Given the description of an element on the screen output the (x, y) to click on. 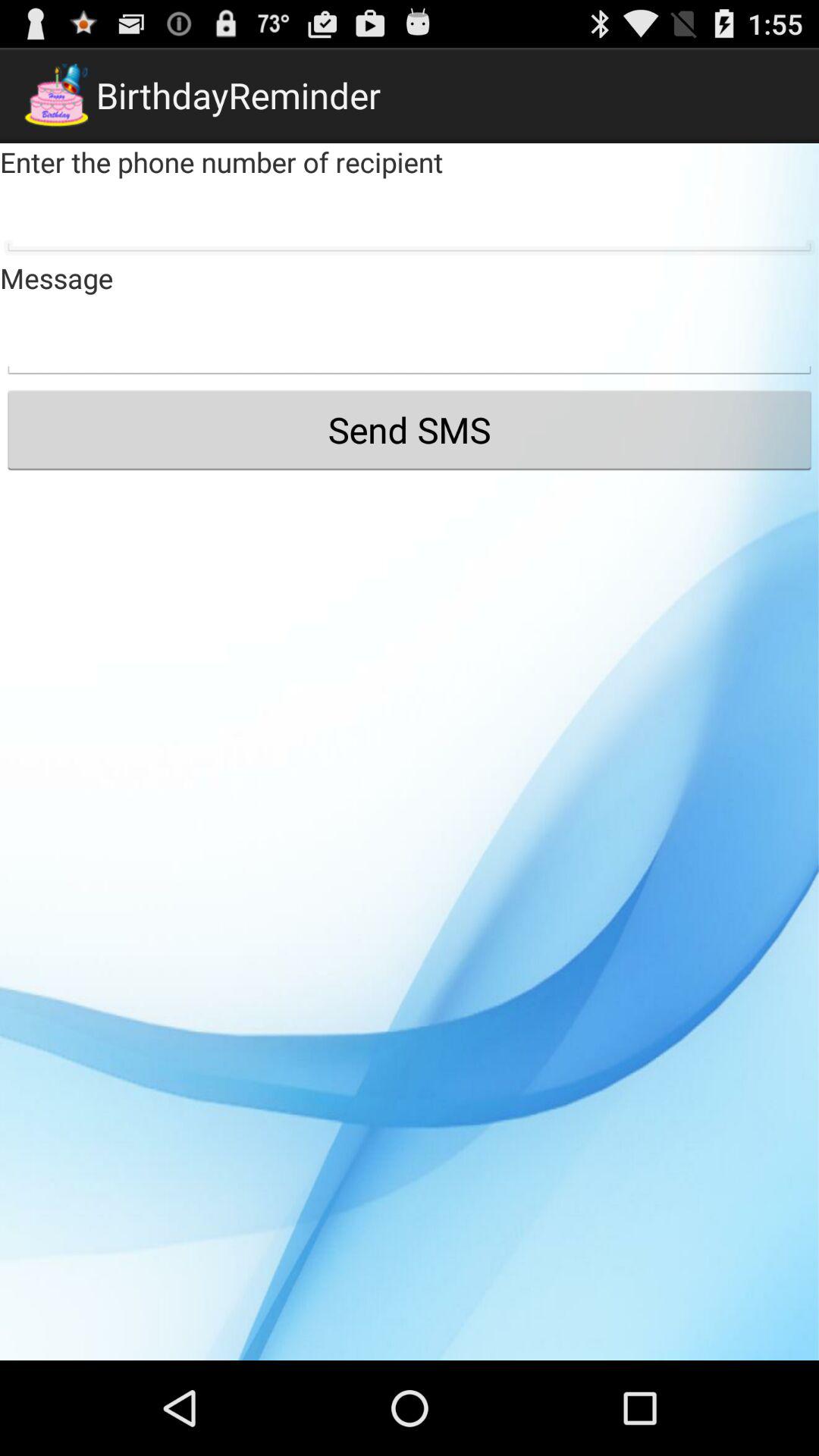
launch the send sms item (409, 429)
